Given the description of an element on the screen output the (x, y) to click on. 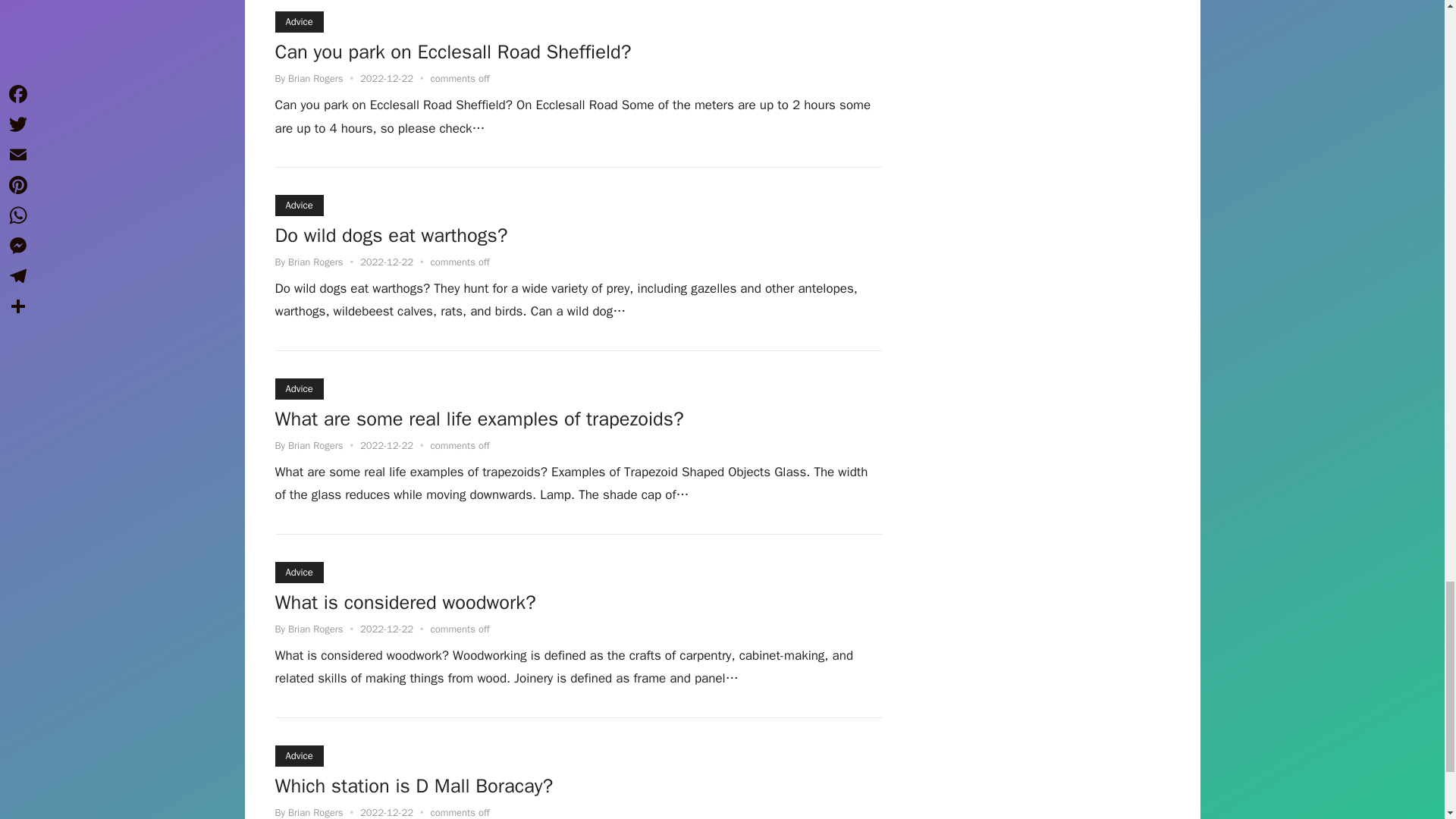
Posts by Brian Rogers (315, 261)
Posts by Brian Rogers (315, 628)
Posts by Brian Rogers (315, 812)
Posts by Brian Rogers (315, 445)
Posts by Brian Rogers (315, 78)
